Given the description of an element on the screen output the (x, y) to click on. 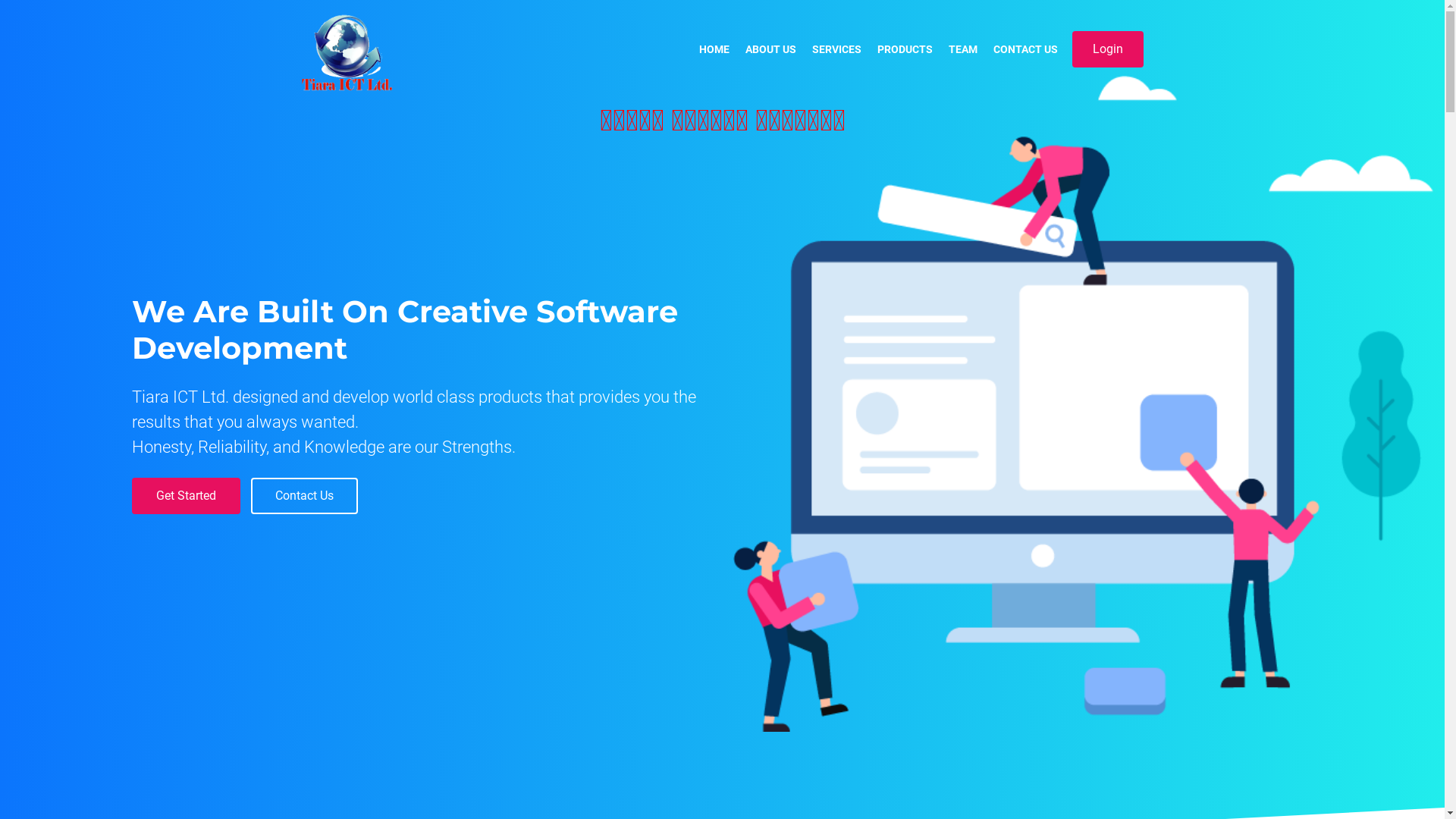
Login Element type: text (1107, 49)
PRODUCTS Element type: text (903, 49)
SERVICES Element type: text (835, 49)
CONTACT US Element type: text (1025, 49)
ABOUT US Element type: text (769, 49)
TEAM Element type: text (961, 49)
HOME Element type: text (714, 49)
Contact Us Element type: text (304, 495)
Get Started Element type: text (185, 495)
